Given the description of an element on the screen output the (x, y) to click on. 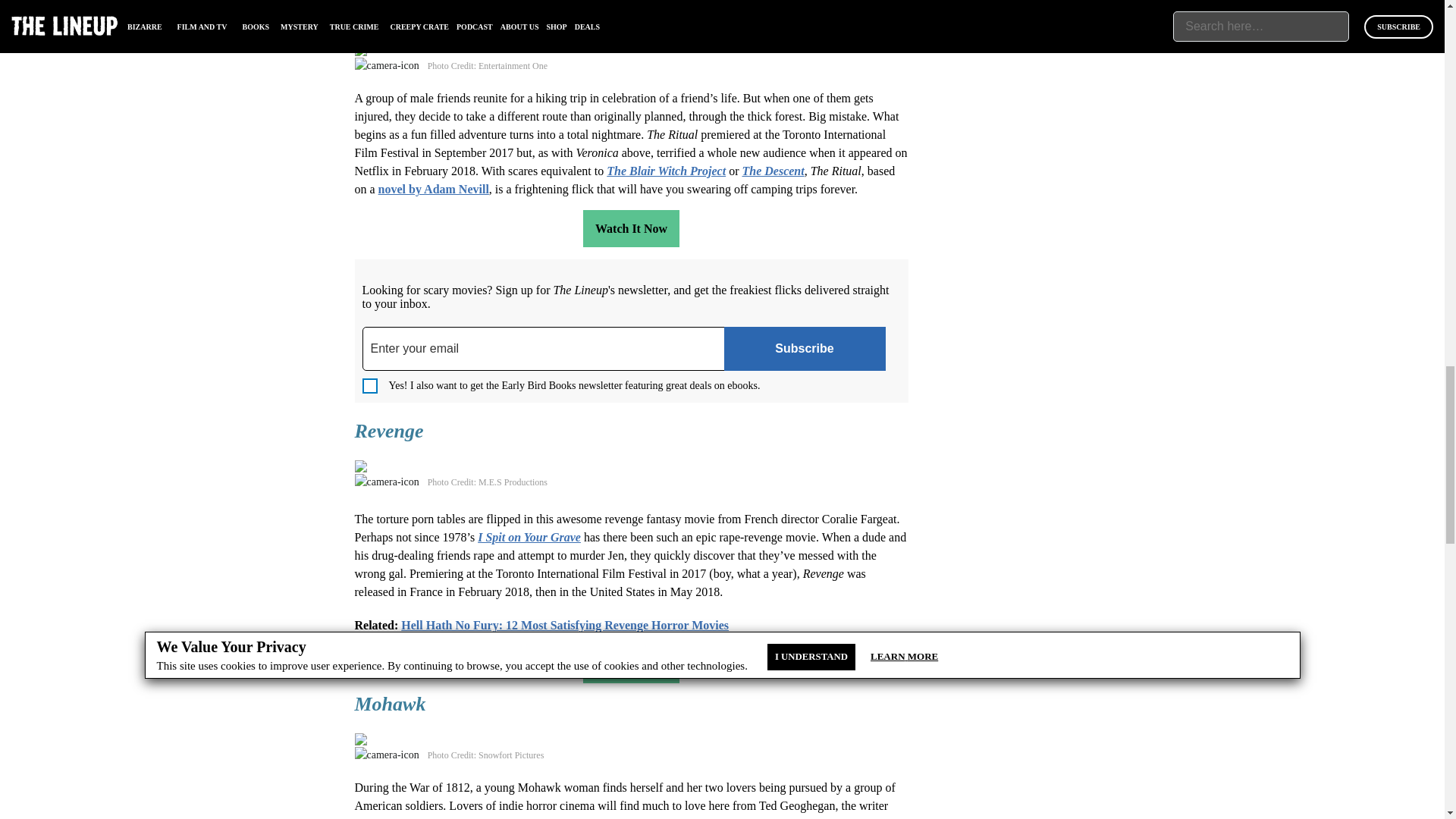
mohawk (419, 739)
the ritual (419, 50)
revenge (419, 467)
